Given the description of an element on the screen output the (x, y) to click on. 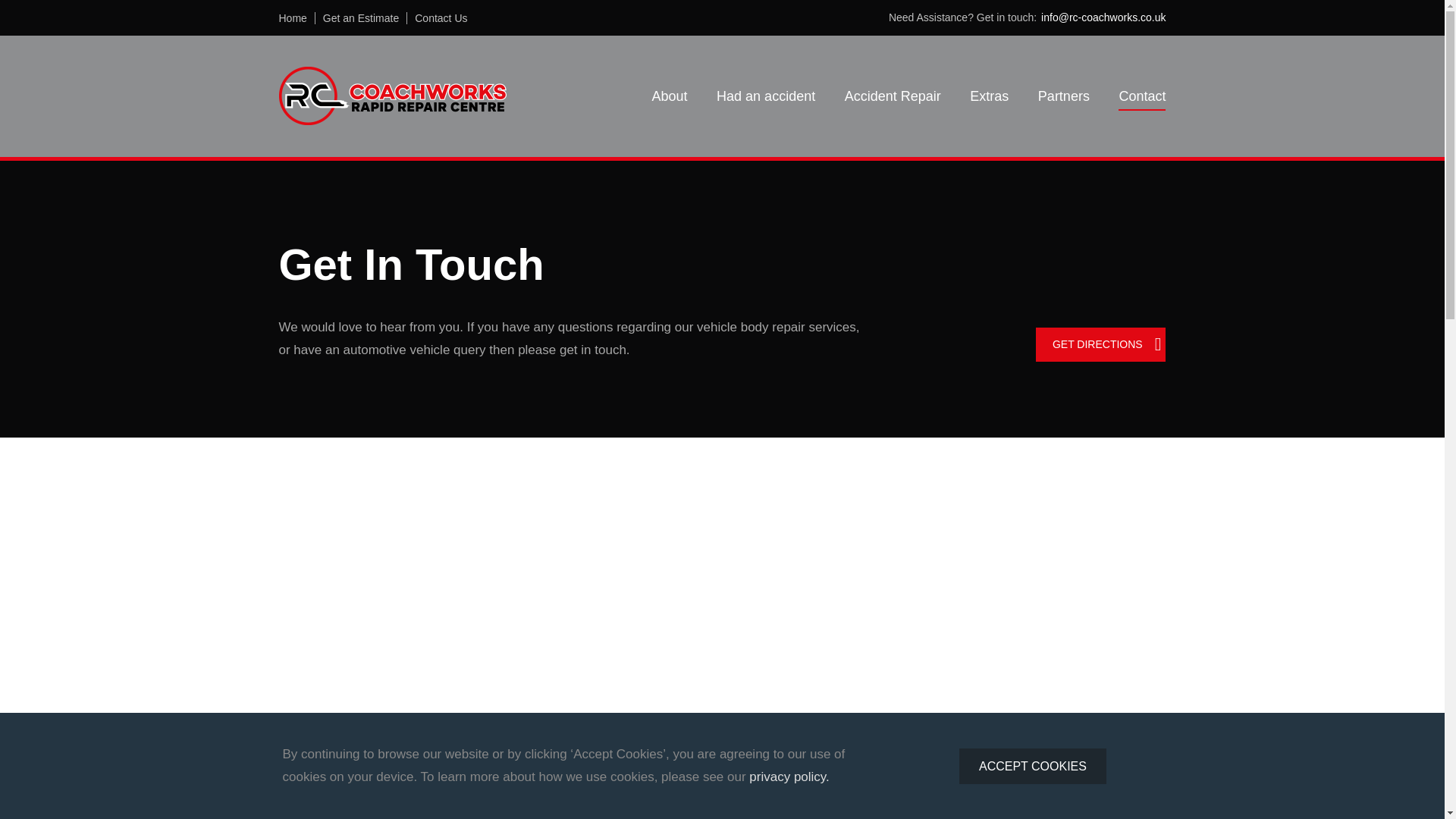
About (669, 95)
Extras (989, 95)
Partners (1063, 95)
Accident Repair (892, 95)
Home (301, 18)
GET DIRECTIONS (1100, 344)
Contact Us (440, 18)
Get an Estimate (368, 18)
Had an accident (765, 95)
Contact (1142, 95)
